Given the description of an element on the screen output the (x, y) to click on. 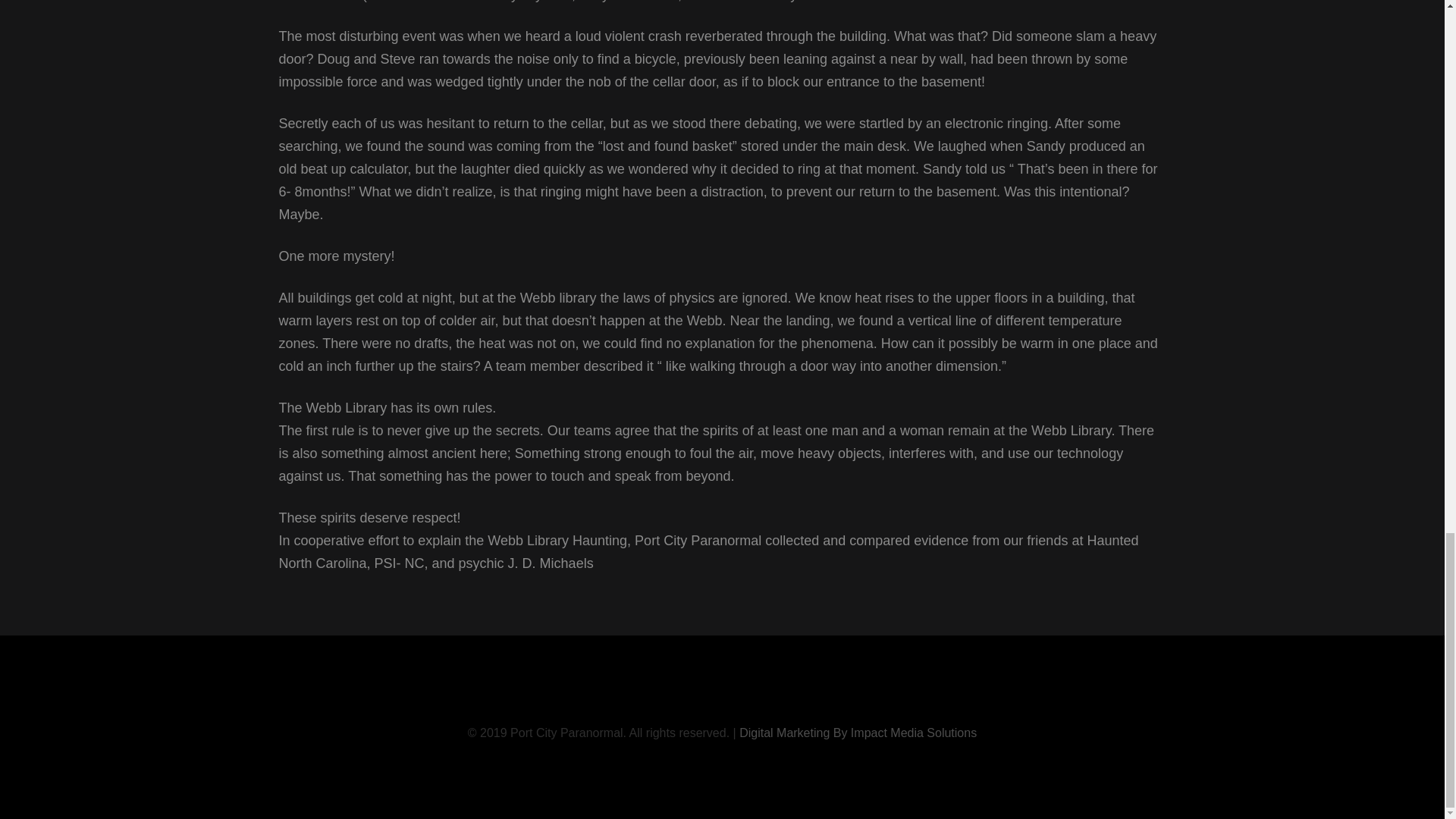
Digital Marketing By Impact Media Solutions (857, 732)
